Given the description of an element on the screen output the (x, y) to click on. 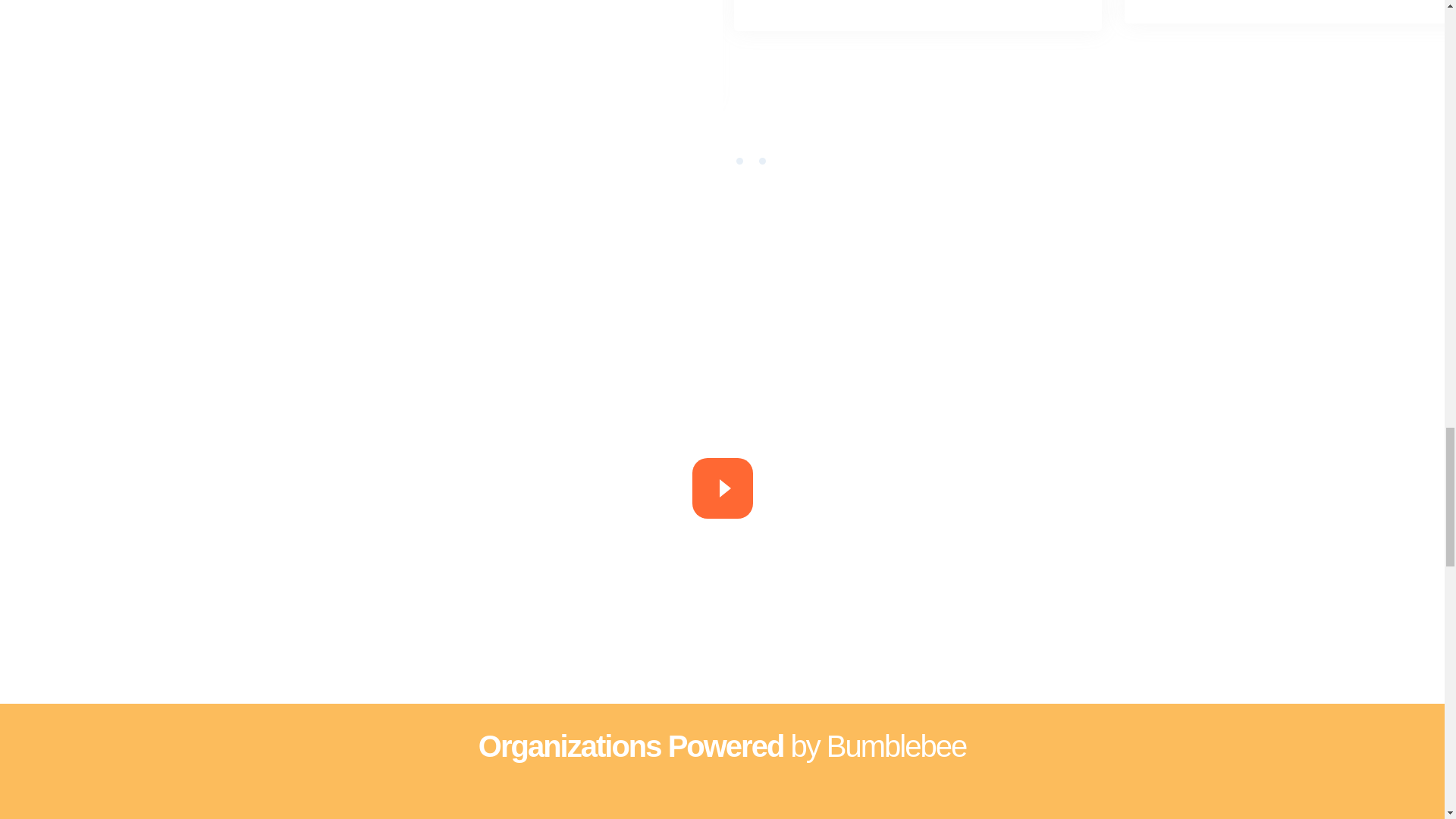
Independent Educational Consultants Association (819, 806)
3 (784, 161)
23 (404, 806)
1 (739, 161)
Plumbing-Heating-Cooling Contractors Association (1026, 806)
29 (611, 806)
2 (762, 161)
